Given the description of an element on the screen output the (x, y) to click on. 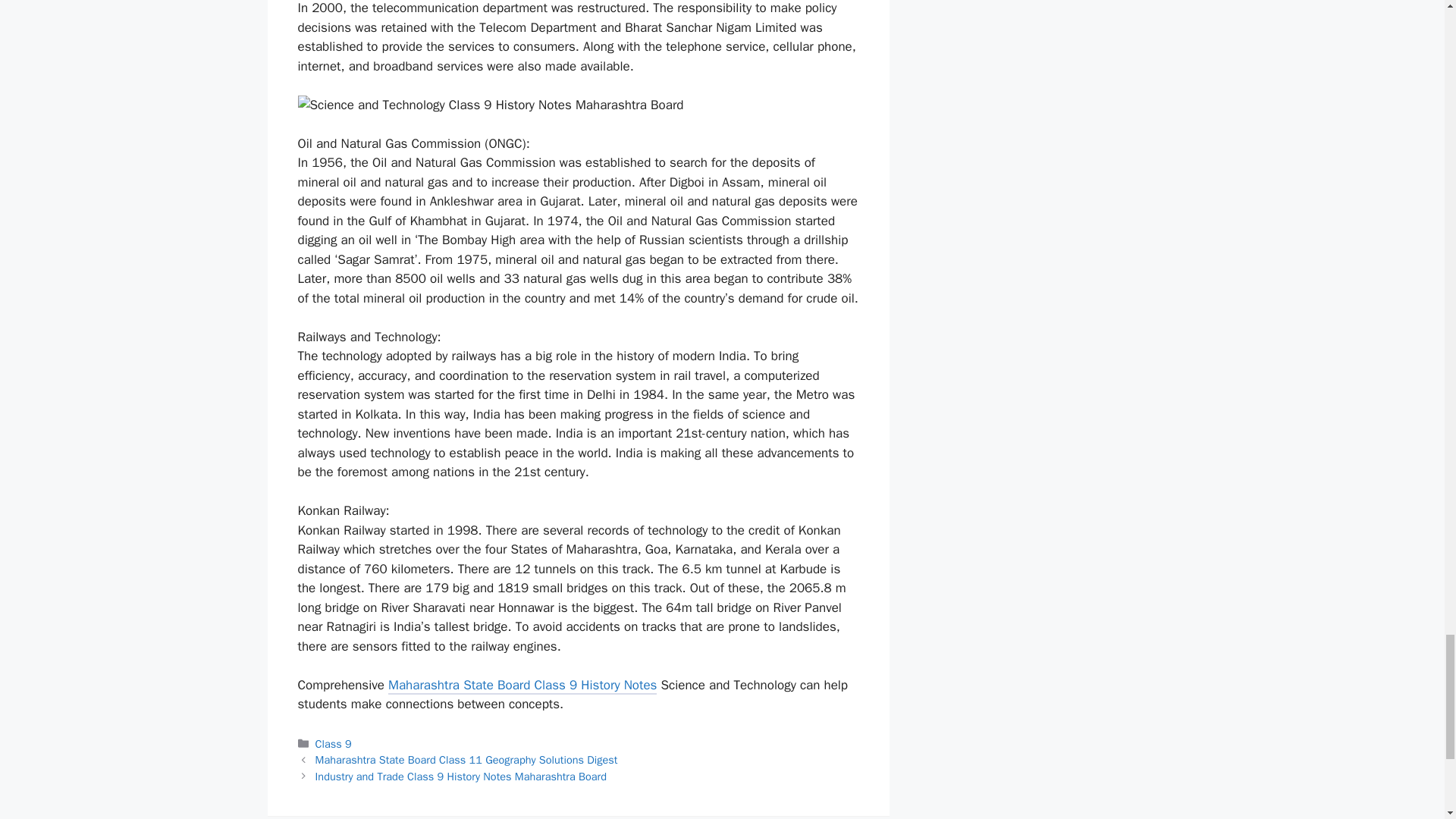
Industry and Trade Class 9 History Notes Maharashtra Board (461, 775)
Maharashtra State Board Class 11 Geography Solutions Digest (466, 759)
Class 9 (333, 744)
Maharashtra State Board Class 9 History Notes (522, 686)
